Given the description of an element on the screen output the (x, y) to click on. 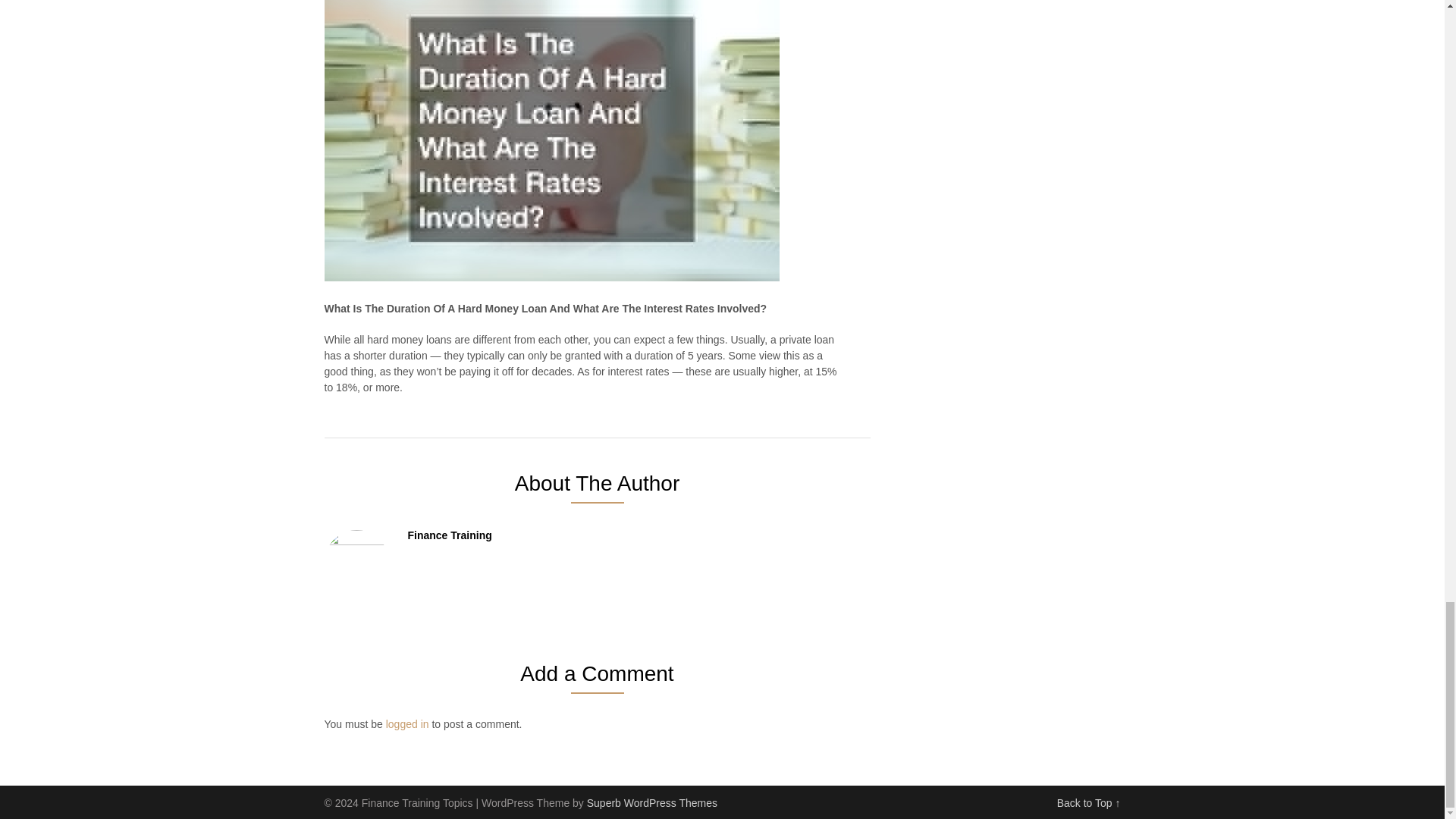
logged in (407, 724)
Superb WordPress Themes (651, 802)
